Given the description of an element on the screen output the (x, y) to click on. 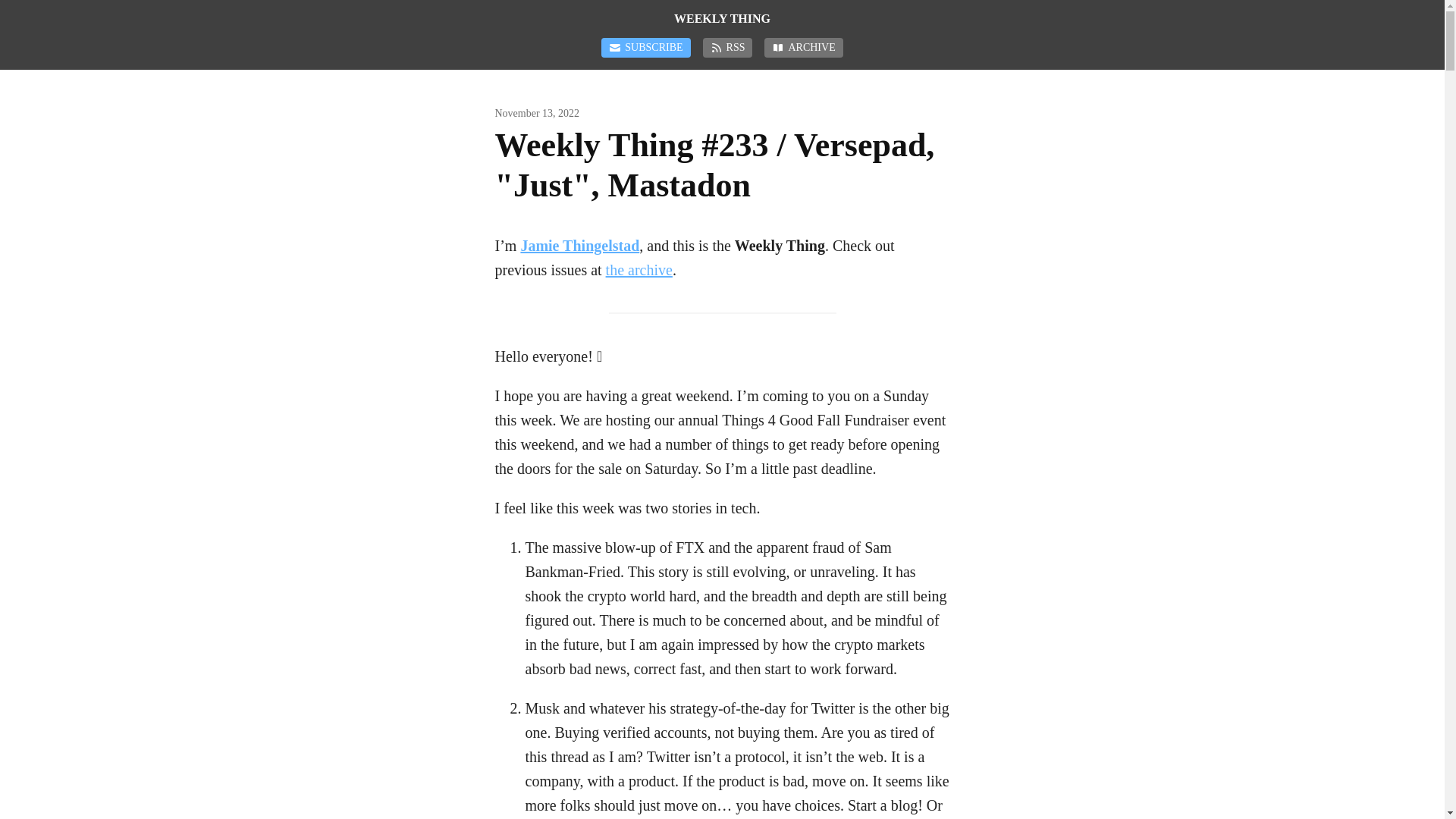
the archive (638, 269)
RSS (727, 47)
SUBSCRIBE (645, 47)
WEEKLY THING (722, 18)
Jamie Thingelstad (579, 245)
ARCHIVE (803, 47)
